Given the description of an element on the screen output the (x, y) to click on. 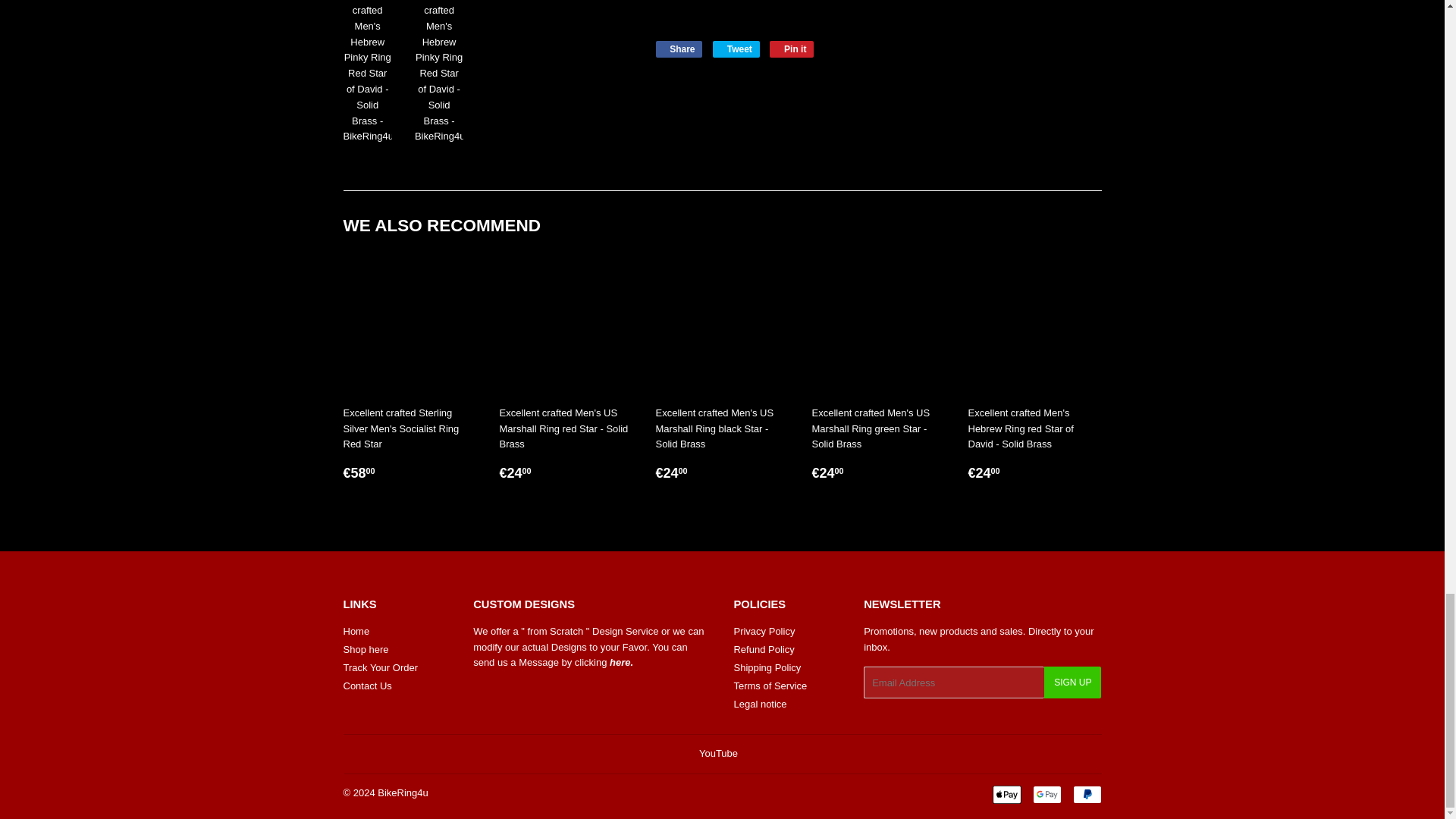
BikeRing4u on YouTube (718, 753)
Tweet on Twitter (736, 48)
PayPal (1085, 794)
Share on Facebook (678, 48)
Pin on Pinterest (791, 48)
Google Pay (736, 48)
Contact Us (1046, 794)
Apple Pay (678, 48)
